Given the description of an element on the screen output the (x, y) to click on. 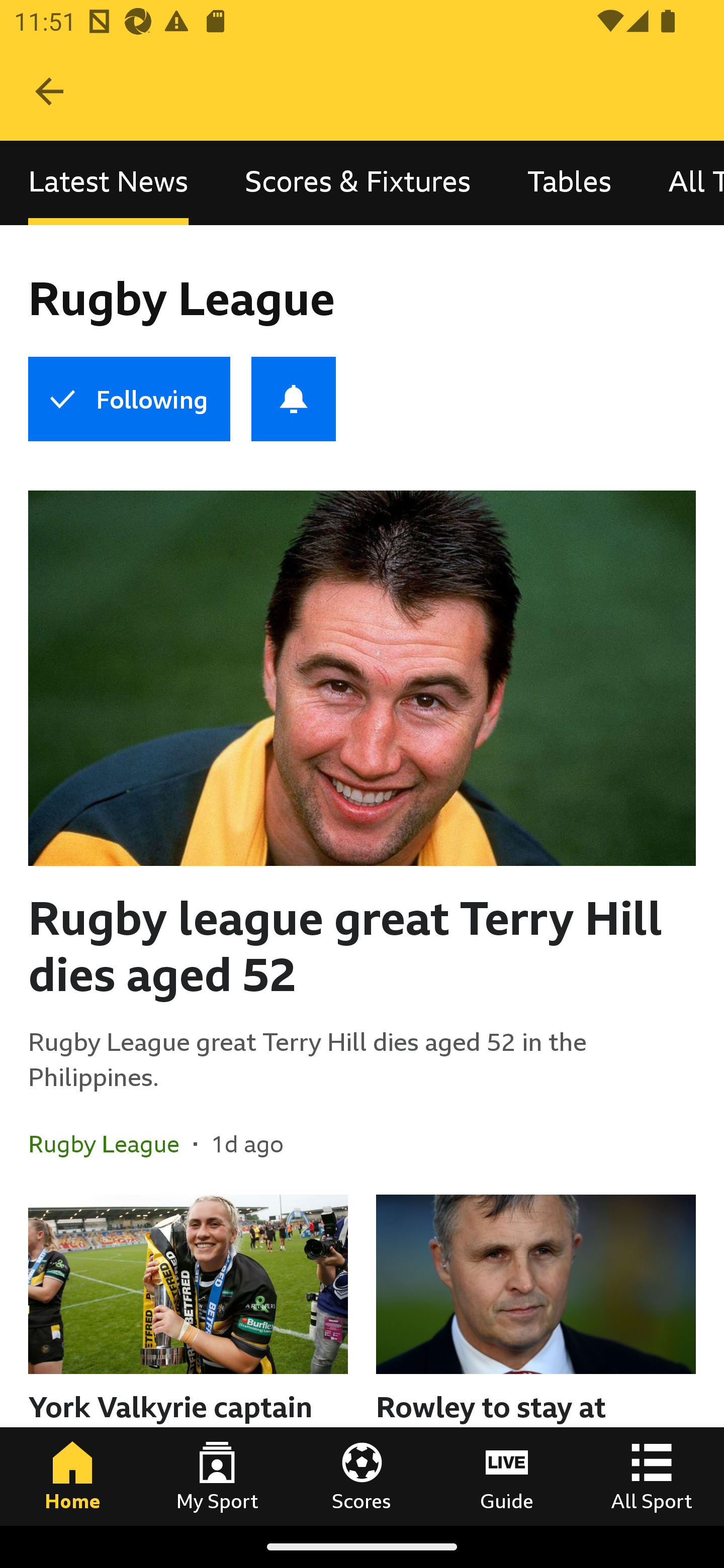
Navigate up (49, 91)
Latest News, selected Latest News (108, 183)
Scores & Fixtures (357, 183)
Tables (569, 183)
Following Rugby League Following (129, 398)
Push notifications for Rugby League (293, 398)
My Sport (216, 1475)
Scores (361, 1475)
Guide (506, 1475)
All Sport (651, 1475)
